Given the description of an element on the screen output the (x, y) to click on. 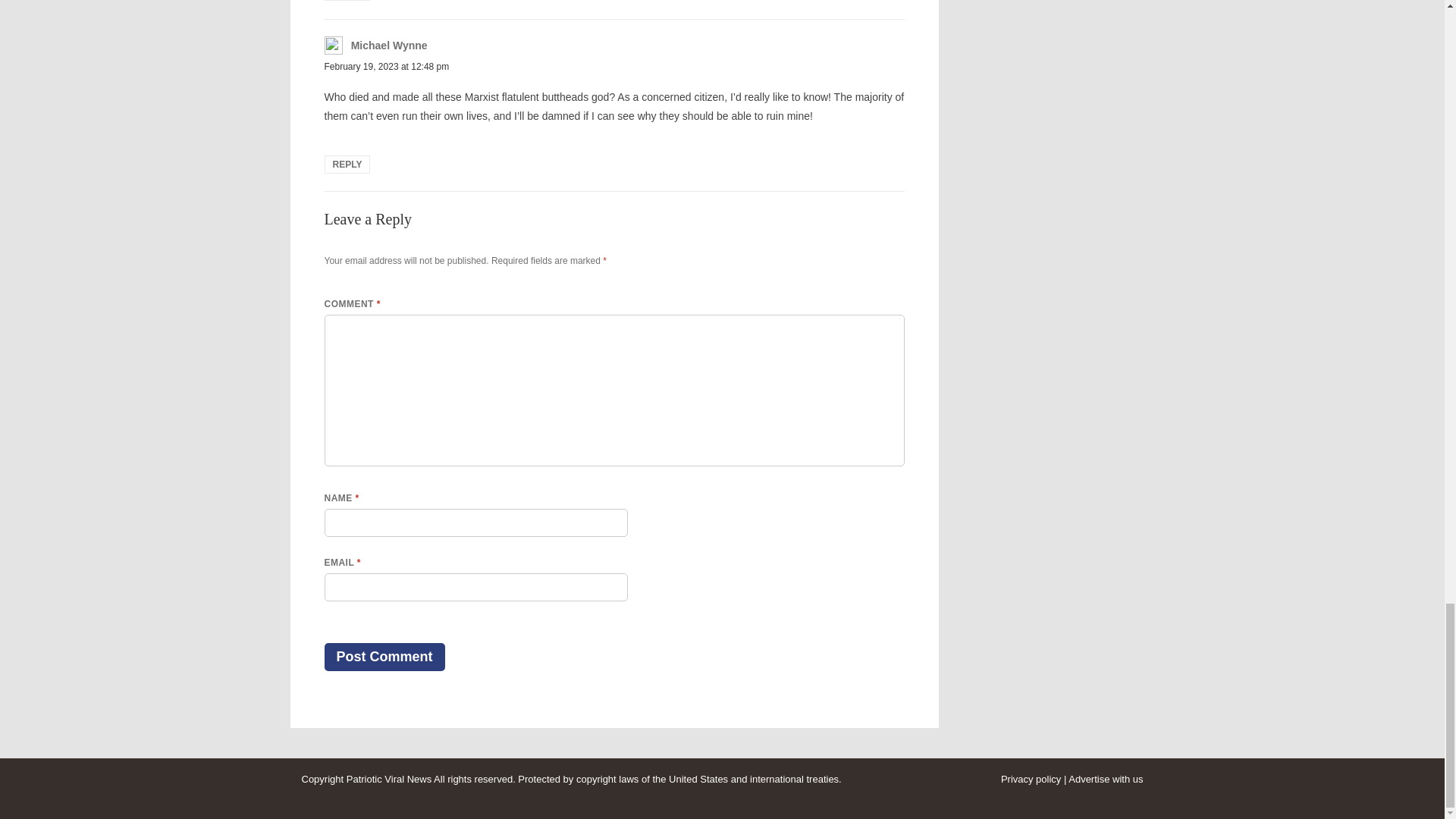
REPLY (347, 164)
February 19, 2023 at 12:48 pm (386, 66)
REPLY (347, 0)
Post Comment (384, 656)
